Given the description of an element on the screen output the (x, y) to click on. 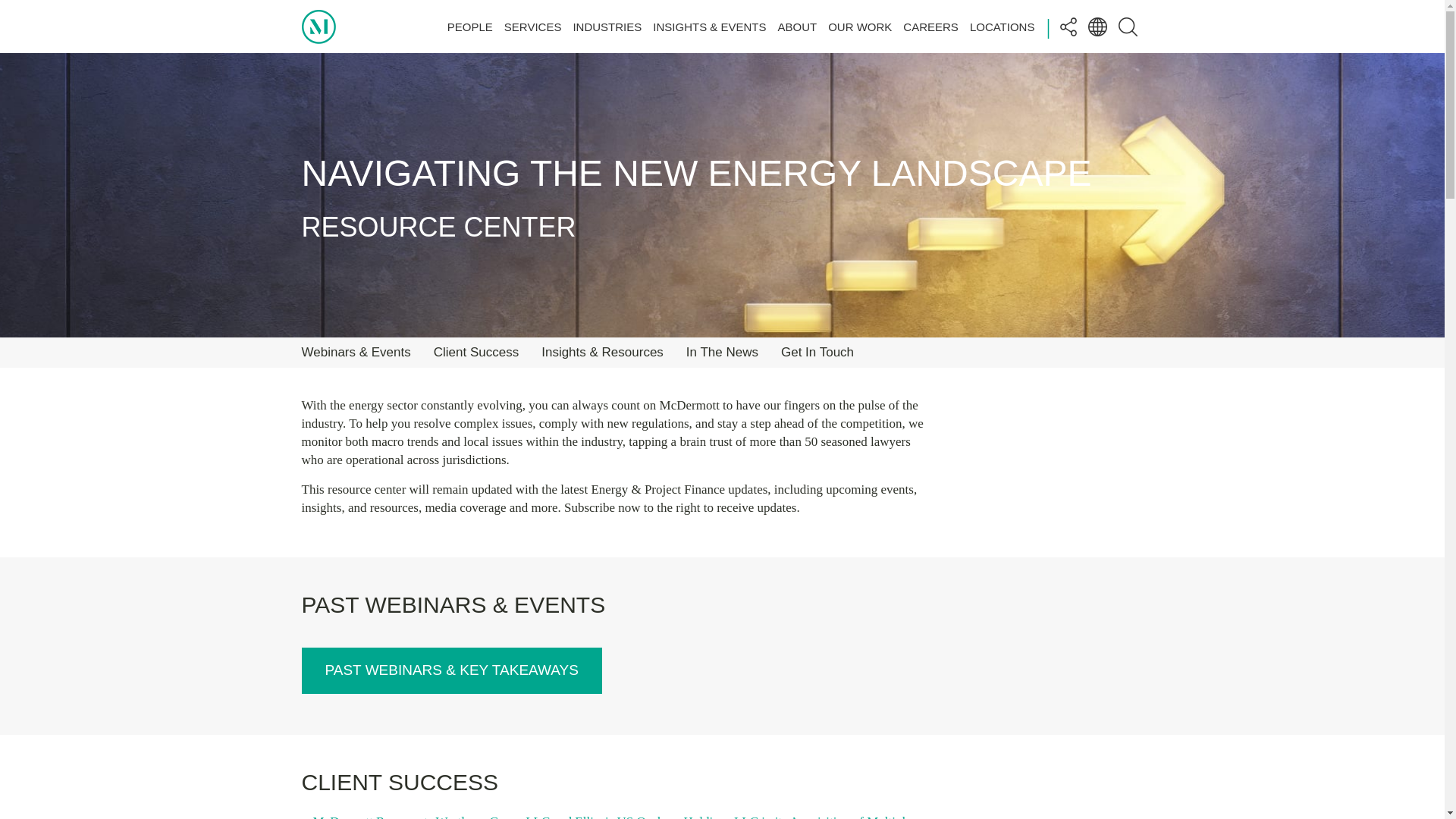
LOCATIONS (1002, 25)
OUR WORK (859, 25)
In The News (721, 352)
ABOUT (796, 25)
SERVICES (532, 25)
Get In Touch (816, 352)
CAREERS (930, 25)
Get In Touch (816, 352)
INDUSTRIES (607, 25)
Client Success (475, 352)
PEOPLE (469, 25)
Client Success (475, 352)
In The News (721, 352)
